Given the description of an element on the screen output the (x, y) to click on. 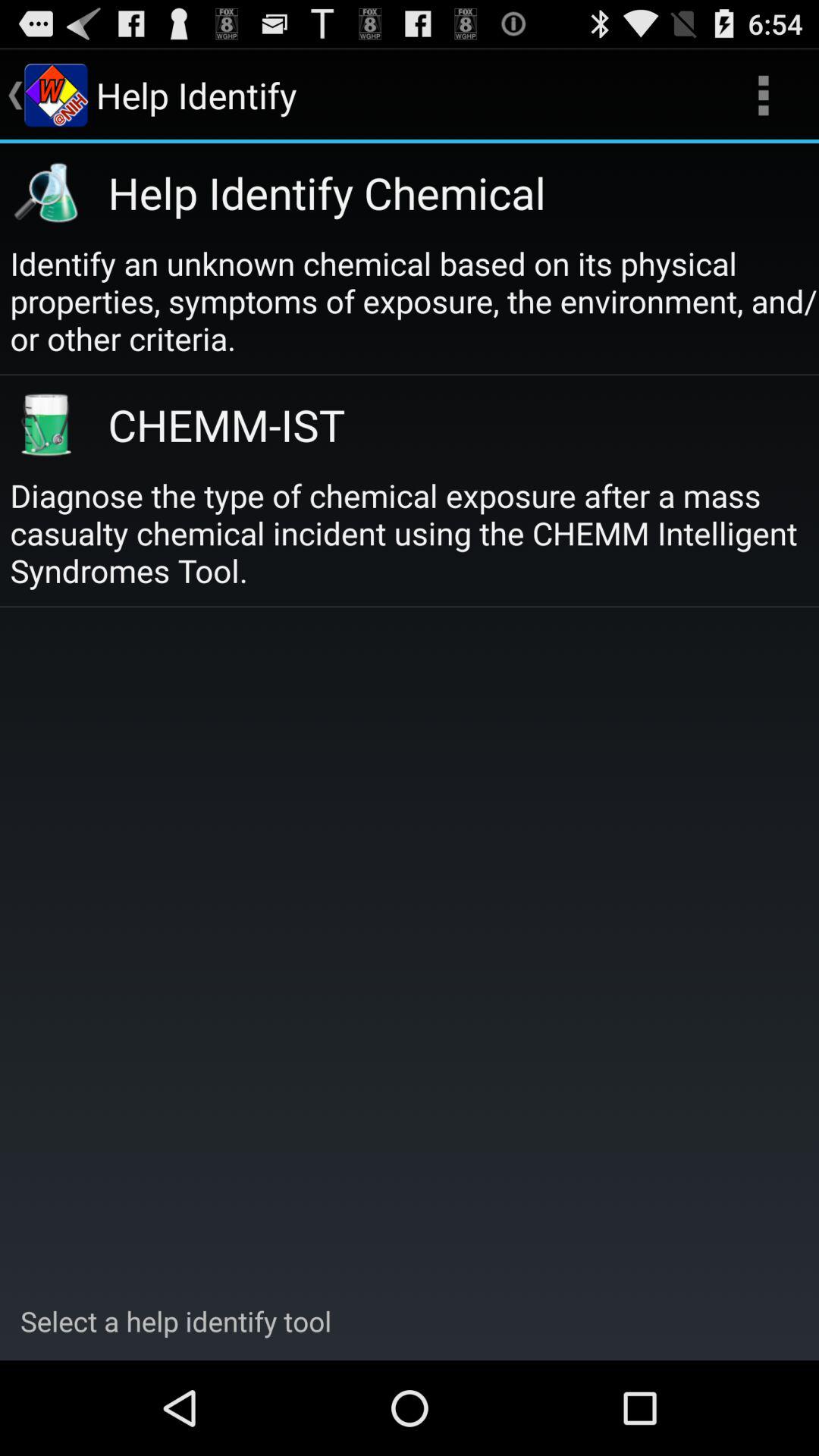
choose chemm-ist icon (446, 424)
